Given the description of an element on the screen output the (x, y) to click on. 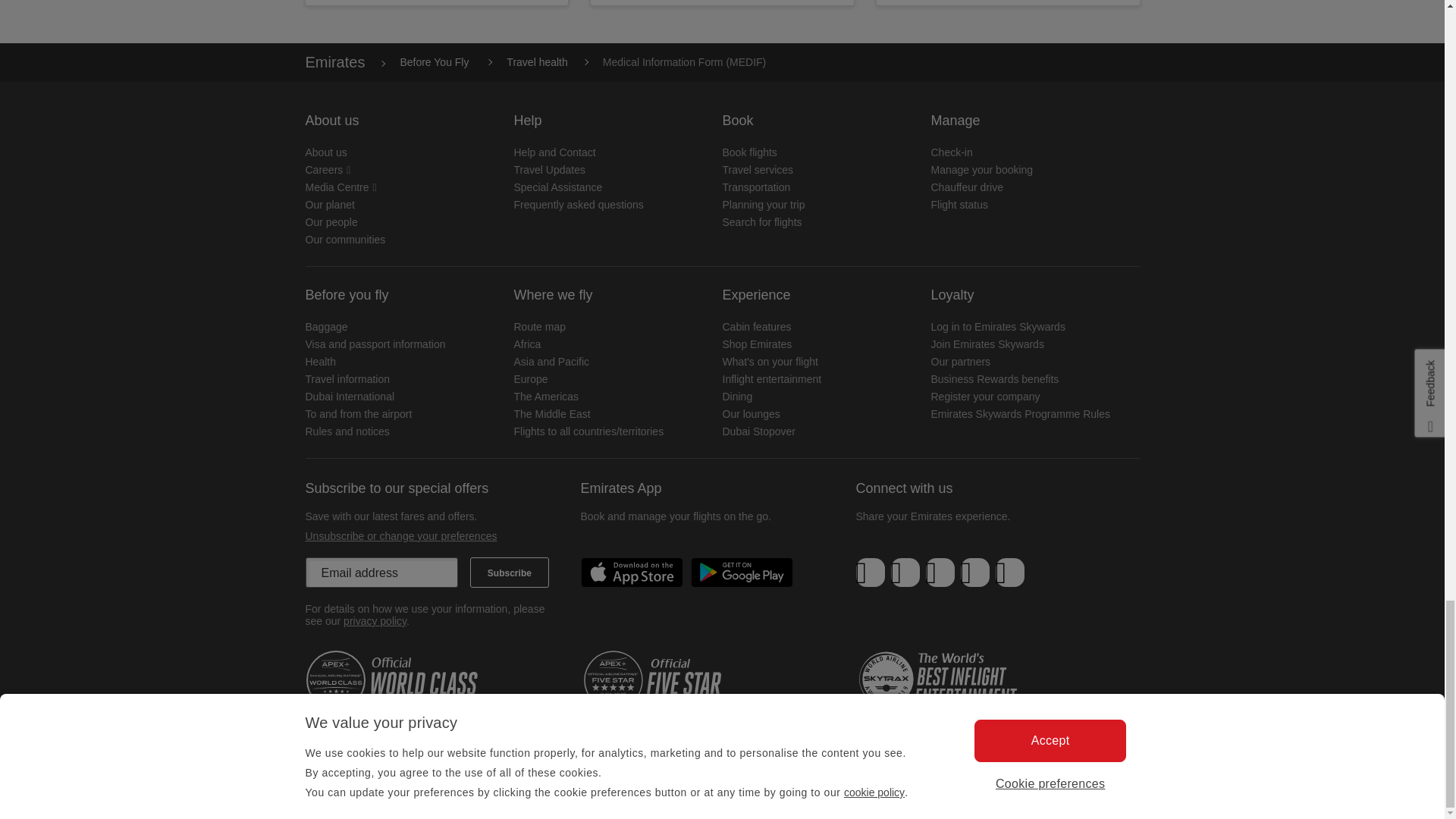
privacy policy (374, 621)
World Class Airline APEX Official Airline Ratings (395, 680)
Apex five star rating 2021 (673, 680)
LinkedIn (939, 572)
X-social (904, 572)
Youtube (974, 572)
Facebook (870, 572)
Instagram (1009, 572)
Unsubscribe or change your preferences (400, 535)
